Given the description of an element on the screen output the (x, y) to click on. 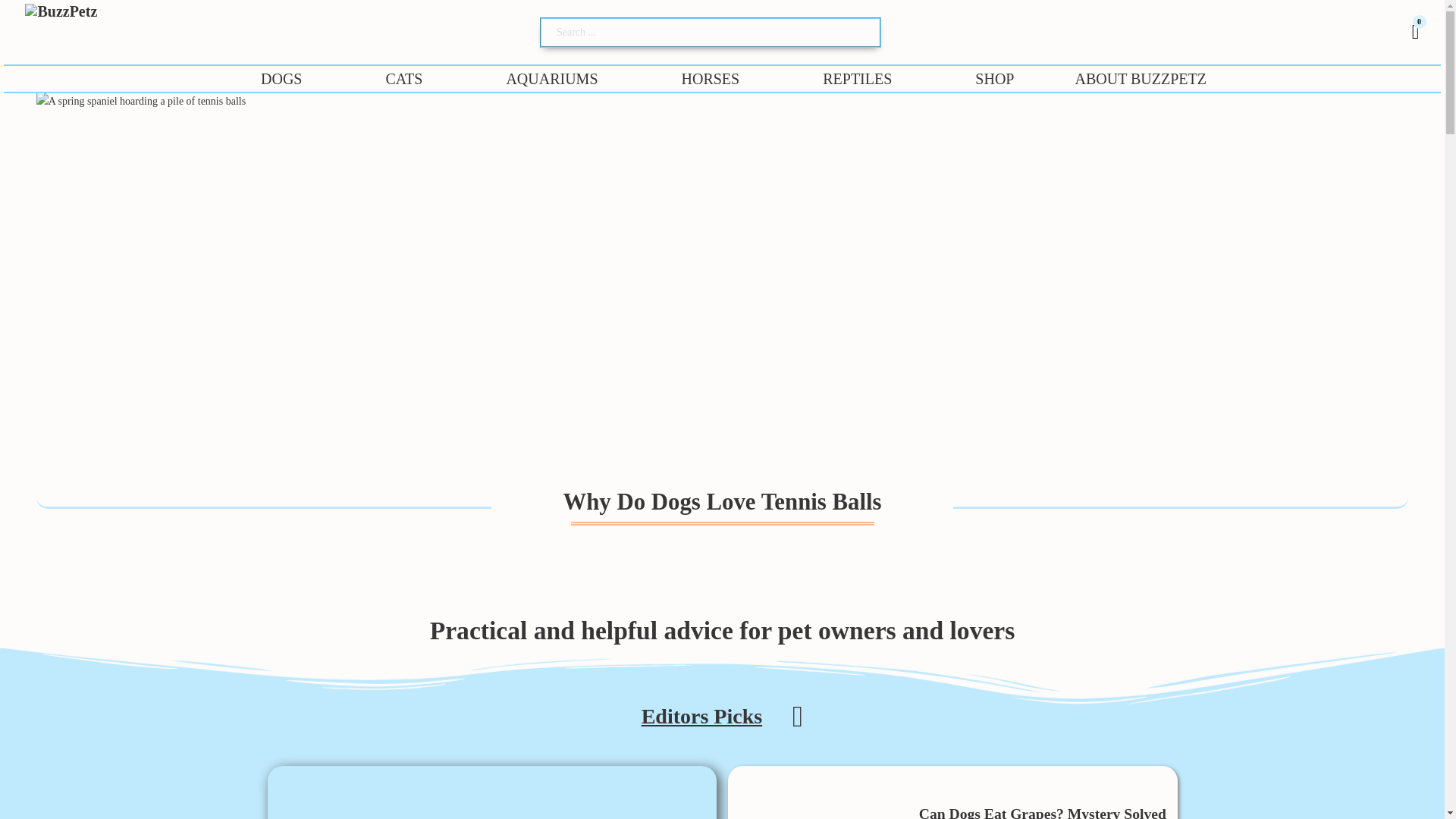
SHOP (995, 78)
0 (1415, 32)
REPTILES (857, 78)
HORSES (709, 78)
DOGS (280, 78)
AQUARIUMS (551, 78)
ABOUT BUZZPETZ (1140, 78)
CATS (403, 78)
